Given the description of an element on the screen output the (x, y) to click on. 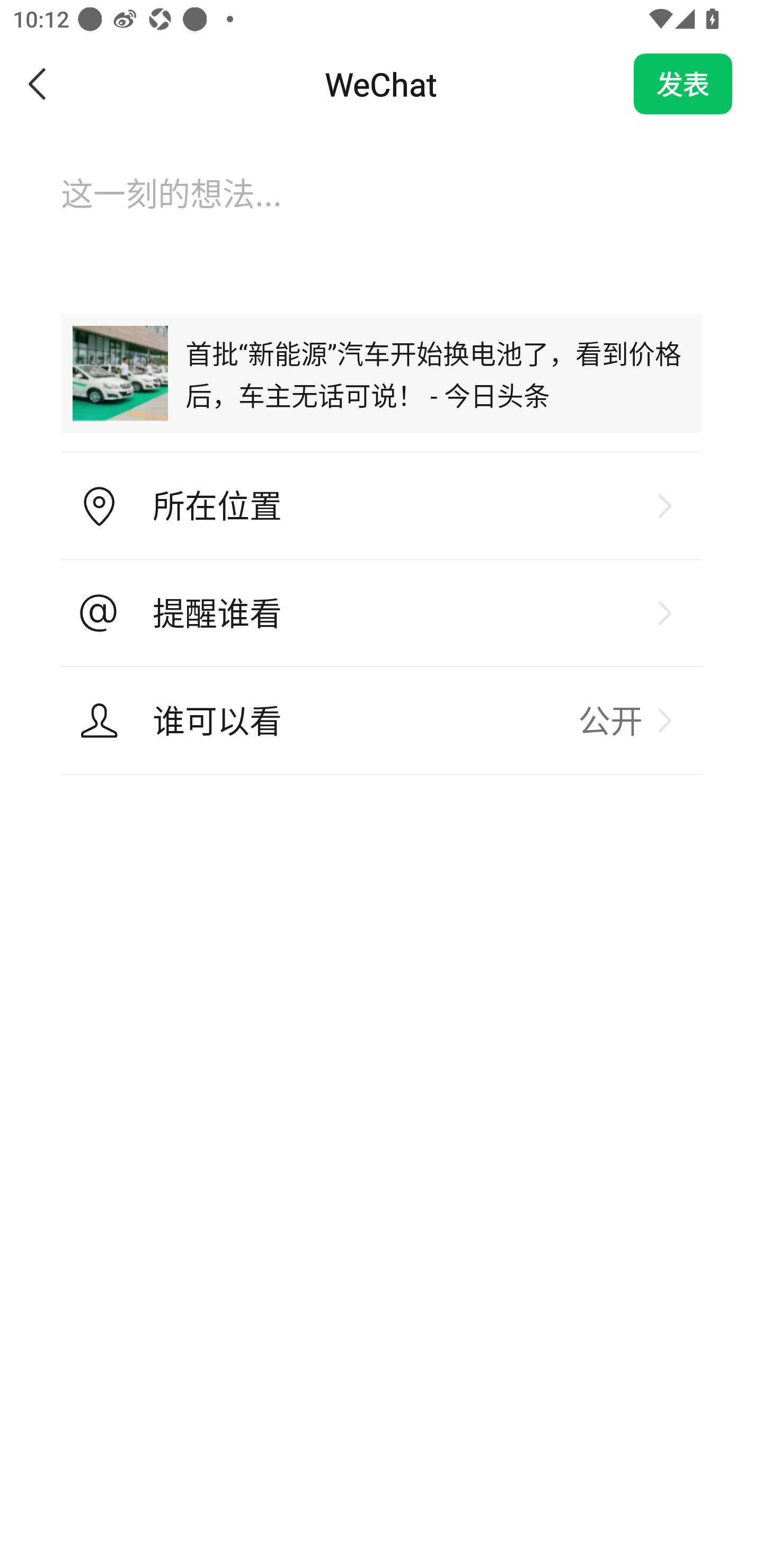
返回 (38, 83)
发表 (683, 83)
这一刻的想法... (381, 211)
首批“新能源”汽车开始换电池了，看到价格后，车主无话可说！ - 今日头条 (381, 372)
所在位置 (381, 506)
提醒谁看  提醒谁看 (381, 612)
谁可以看 公开 (381, 720)
